Given the description of an element on the screen output the (x, y) to click on. 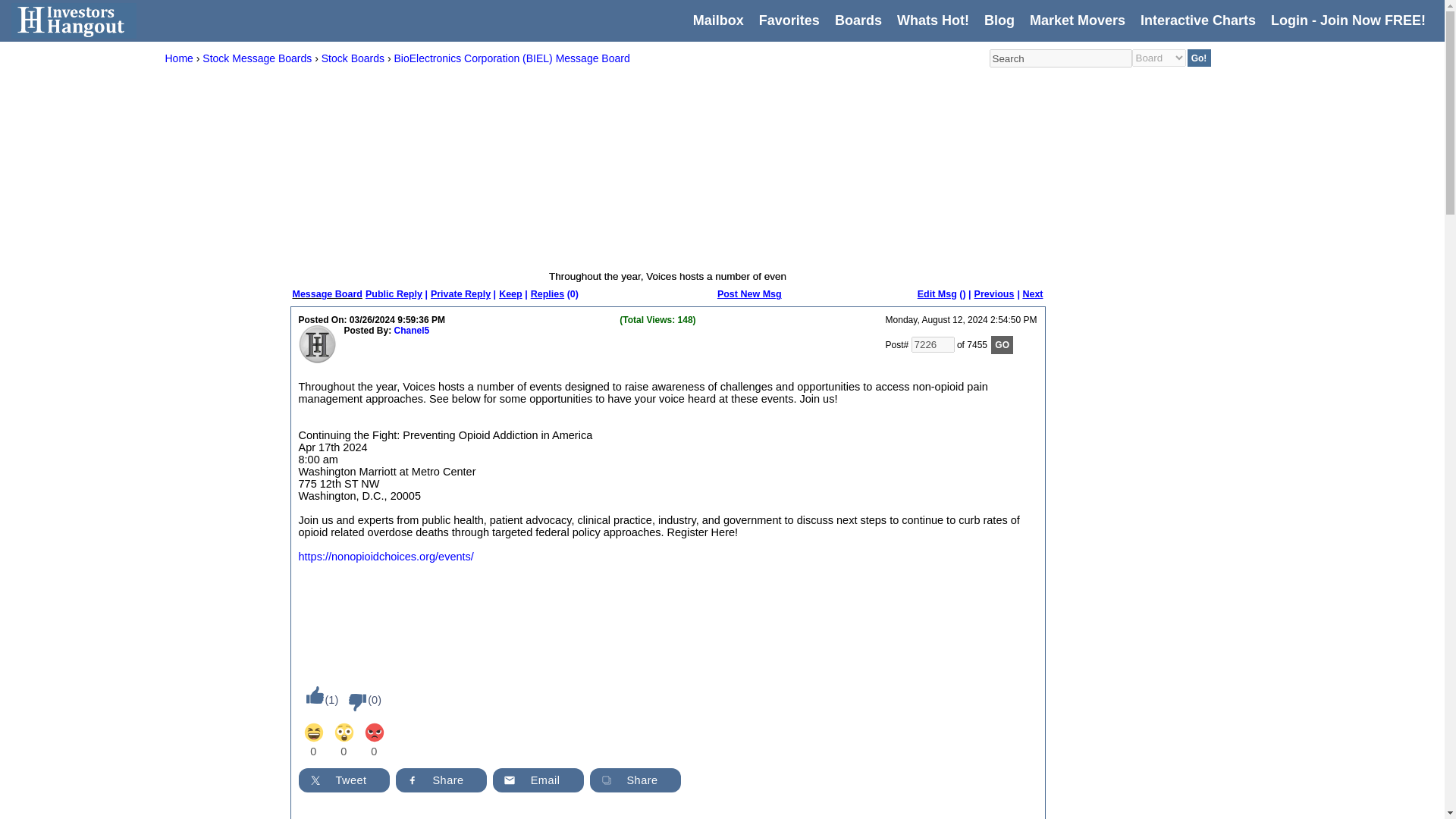
Stock Message Boards (256, 58)
Interactive Charts (1197, 20)
Dislike This Post (353, 702)
Go! (1199, 57)
Favorites (788, 20)
Stock Boards (352, 58)
Message Board (327, 294)
Like This Post (310, 694)
Mailbox (718, 20)
Post New Msg (749, 294)
